Given the description of an element on the screen output the (x, y) to click on. 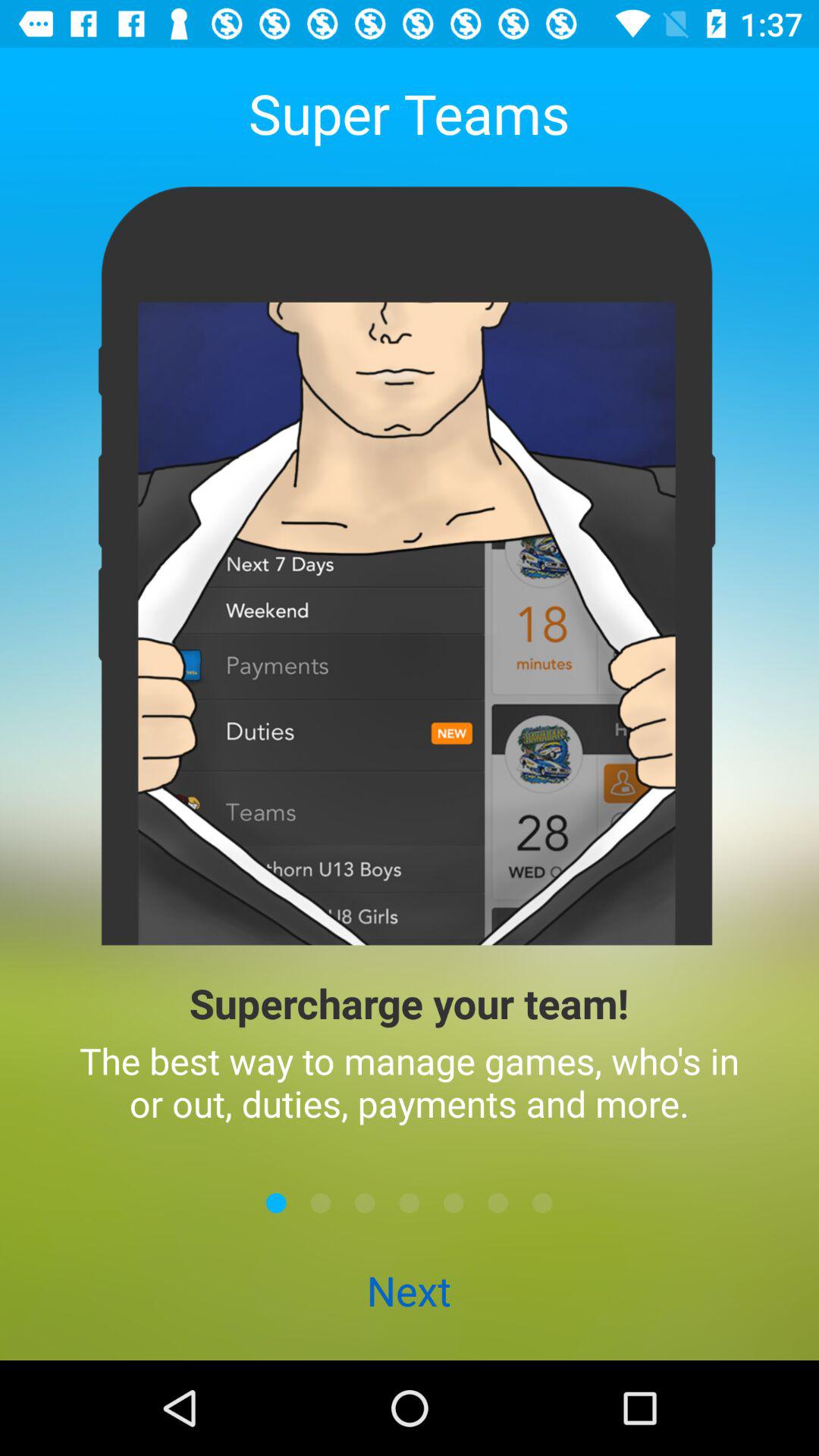
launch icon above the next icon (409, 1203)
